Given the description of an element on the screen output the (x, y) to click on. 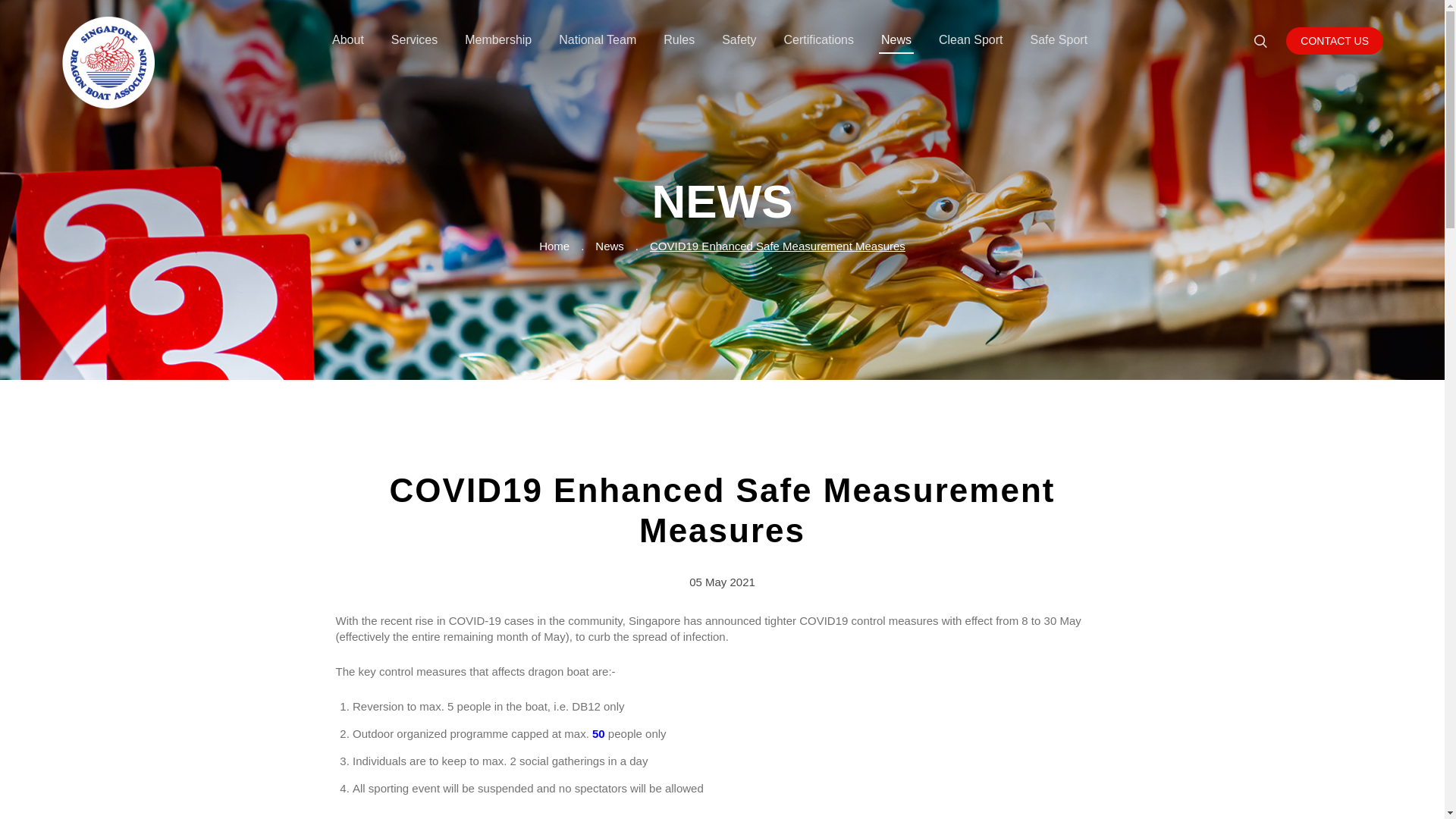
Membership (497, 33)
Certifications (818, 33)
National Team (596, 33)
Safety (738, 33)
CONTACT US (1334, 40)
Services (414, 33)
Clean Sport (970, 33)
logo (108, 61)
Safe Sport (1058, 33)
